Given the description of an element on the screen output the (x, y) to click on. 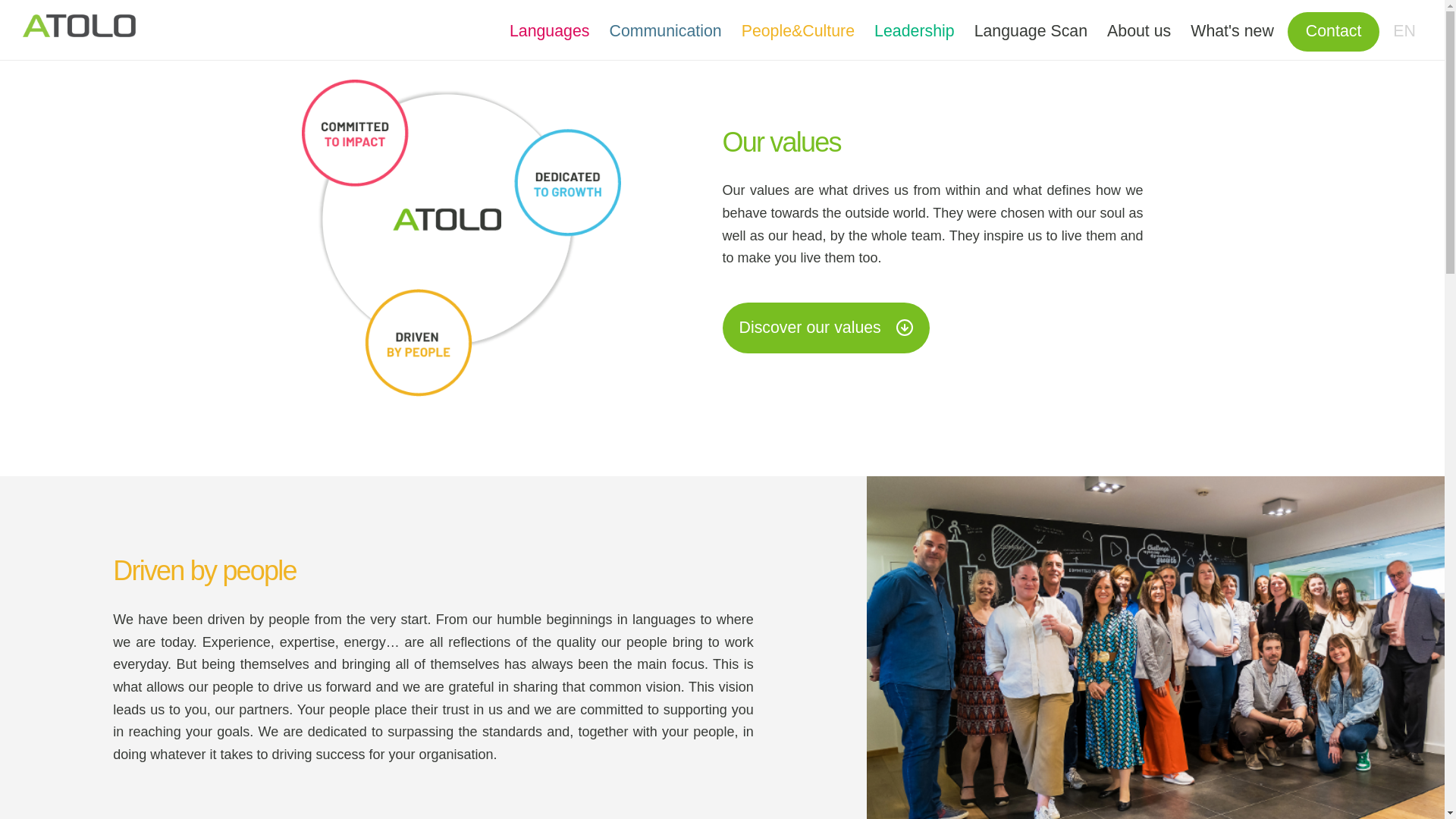
Contact Element type: text (1333, 31)
About us Element type: text (1138, 31)
Leadership Element type: text (914, 31)
Communication Element type: text (664, 31)
Language Scan Element type: text (1030, 31)
Discover our values Element type: text (824, 327)
What's new Element type: text (1232, 31)
People&Culture Element type: text (797, 31)
Languages Element type: text (549, 31)
